Given the description of an element on the screen output the (x, y) to click on. 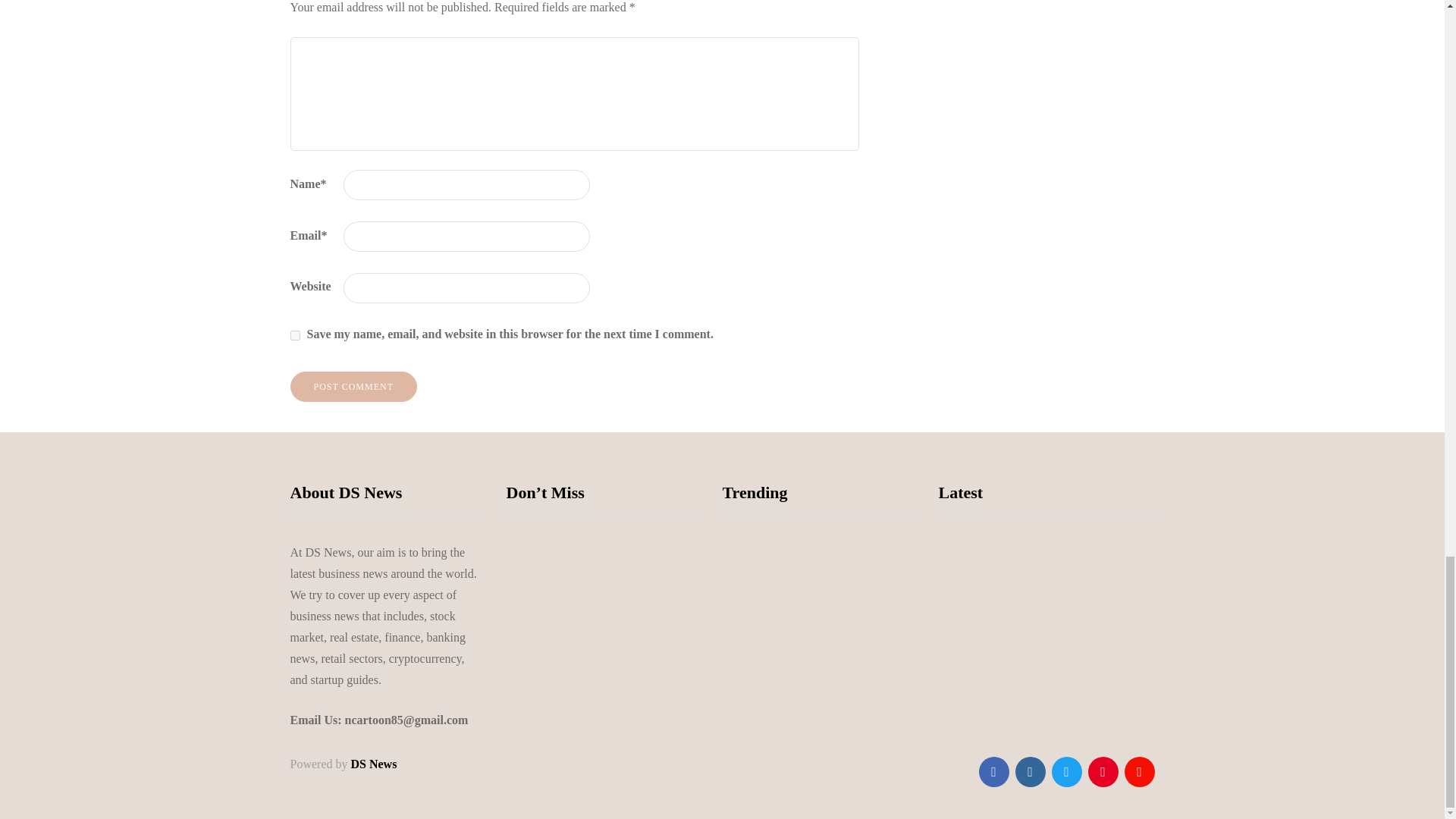
yes (294, 335)
Post comment (352, 386)
